Given the description of an element on the screen output the (x, y) to click on. 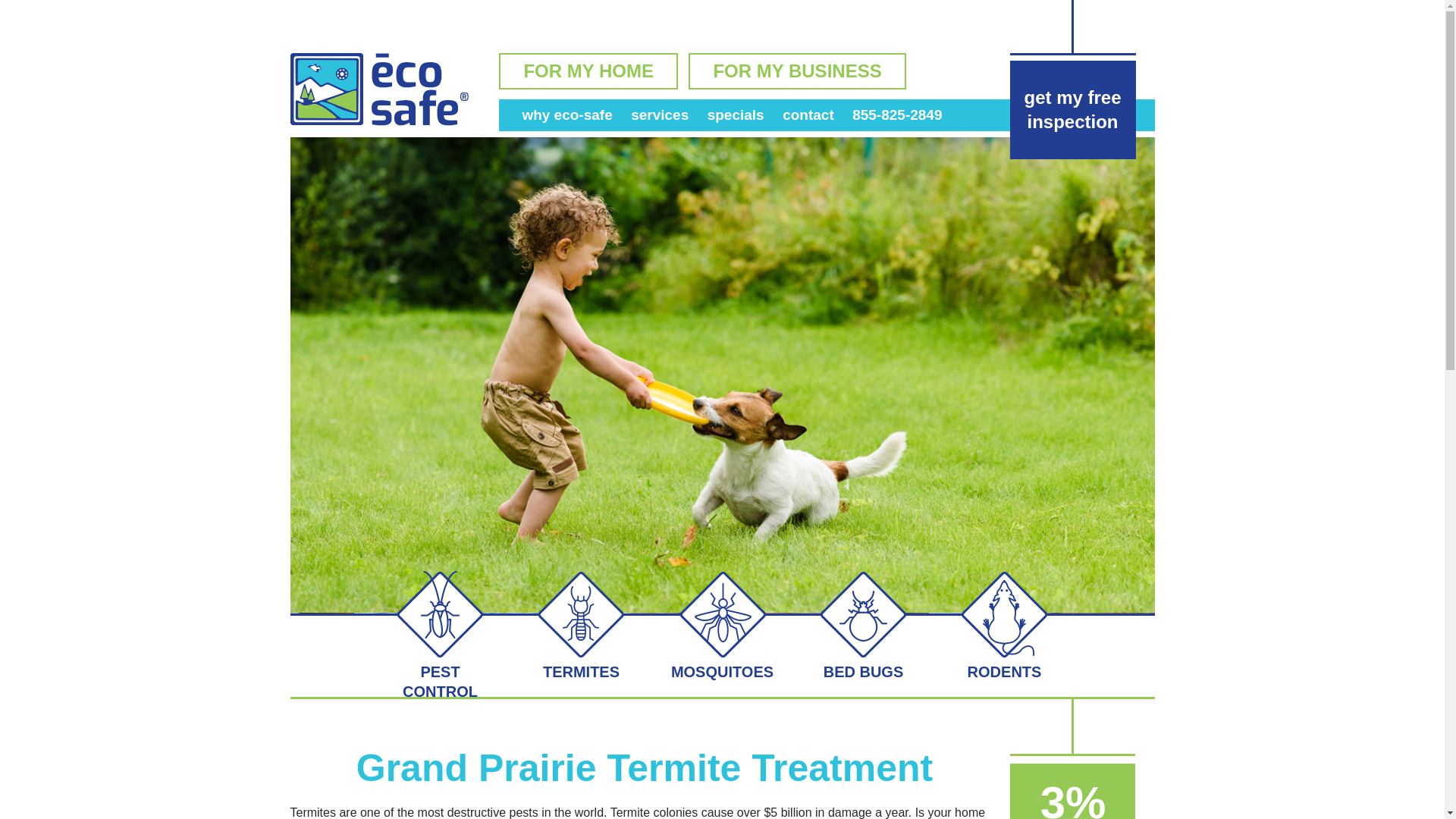
why eco-safe (566, 115)
FOR MY BUSINESS (796, 71)
contact (808, 115)
FOR MY HOME (588, 71)
PEST CONTROL (440, 681)
specials (735, 115)
get my free inspection (1071, 110)
855-825-2849 (896, 115)
services (659, 115)
